Given the description of an element on the screen output the (x, y) to click on. 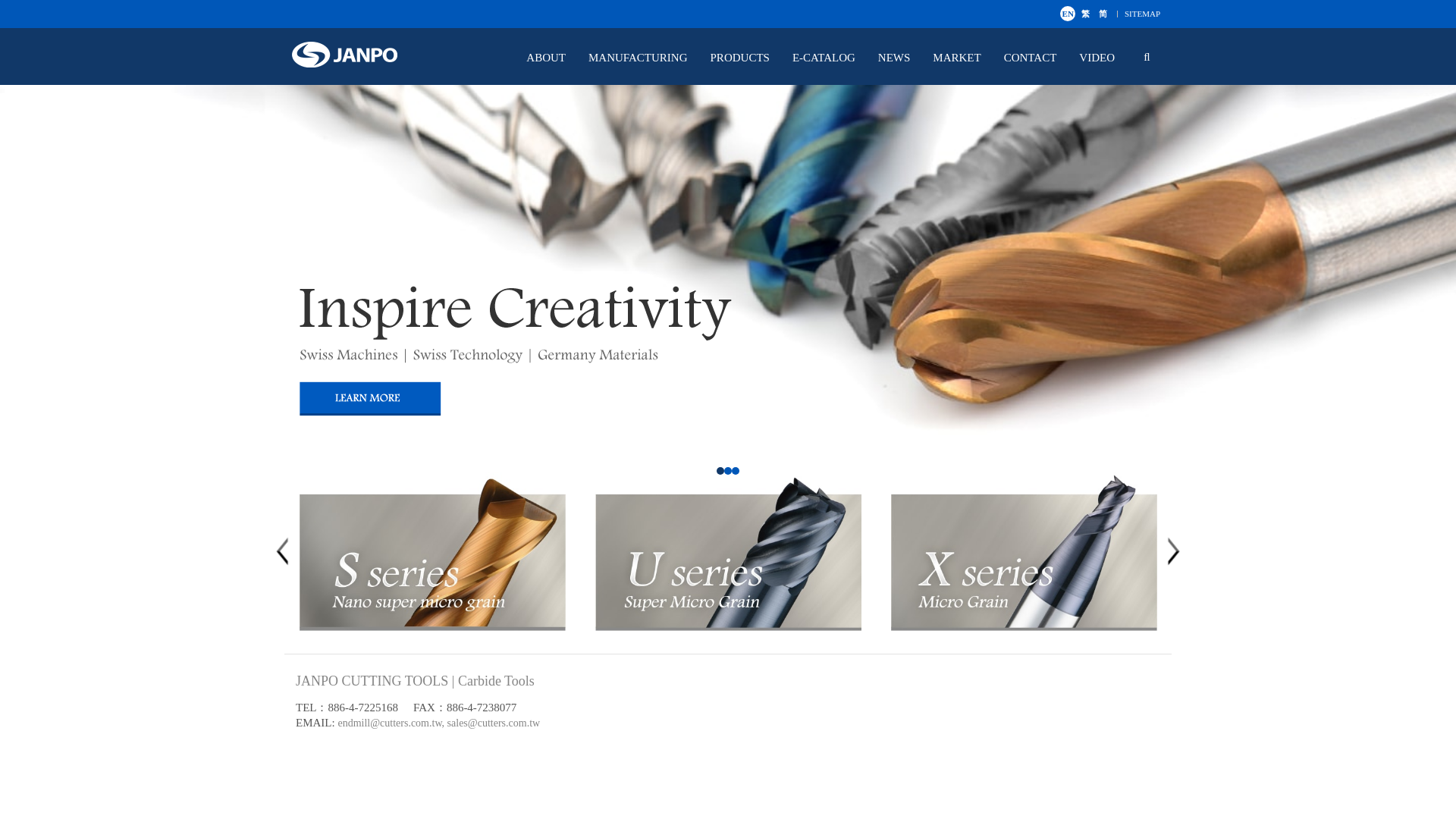
VIDEO (1104, 57)
CONTACT (1037, 57)
E-CATALOG (832, 57)
EN (1067, 13)
MARKET (963, 57)
NEWS (902, 57)
MANUFACTURING (645, 57)
SITEMAP (1142, 13)
PRODUCTS (747, 57)
ABOUT (553, 57)
